Given the description of an element on the screen output the (x, y) to click on. 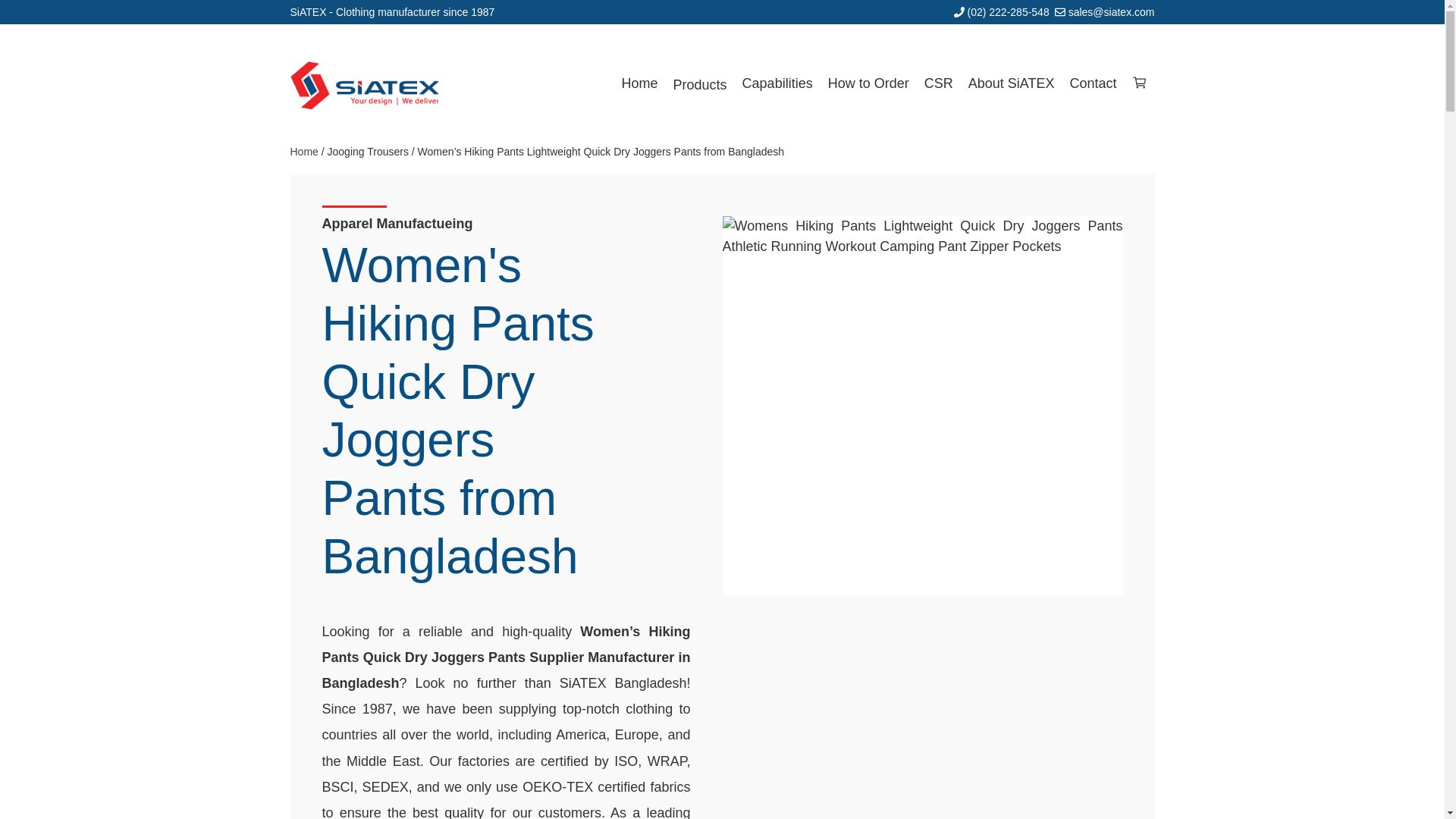
Products (700, 84)
Home (639, 82)
Products (700, 84)
Home (639, 82)
